Given the description of an element on the screen output the (x, y) to click on. 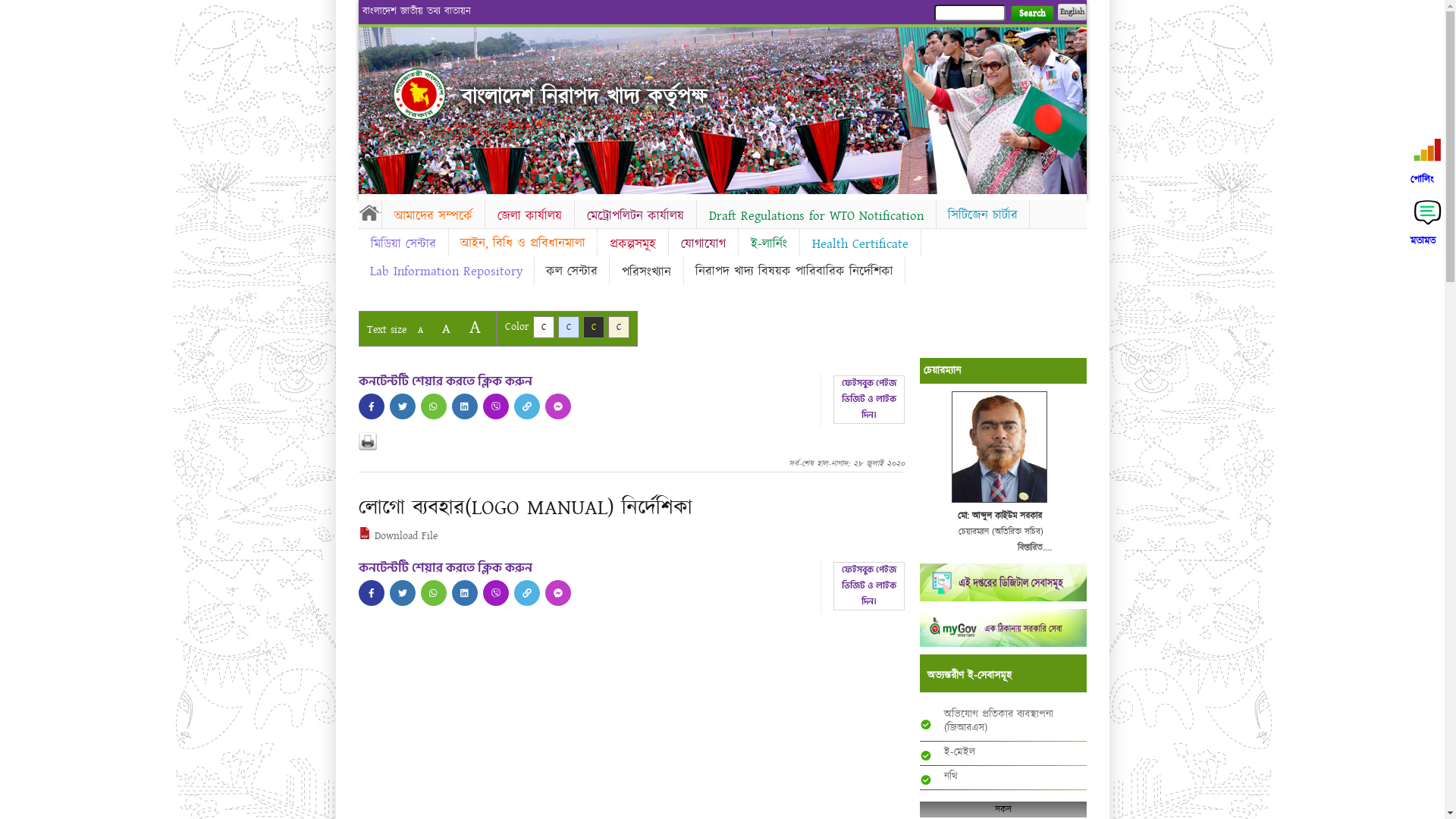
C Element type: text (542, 327)
English Element type: text (1071, 11)
Draft Regulations for WTO Notification Element type: text (815, 216)
Home Element type: hover (368, 211)
C Element type: text (568, 327)
C Element type: text (592, 327)
C Element type: text (618, 327)
Search Element type: text (1031, 13)
Download File Element type: text (396, 535)
Health Certificate Element type: text (859, 244)
Lab Information Repository Element type: text (445, 271)
A Element type: text (445, 328)
A Element type: text (474, 327)
A Element type: text (419, 330)
Home Element type: hover (418, 93)
